Given the description of an element on the screen output the (x, y) to click on. 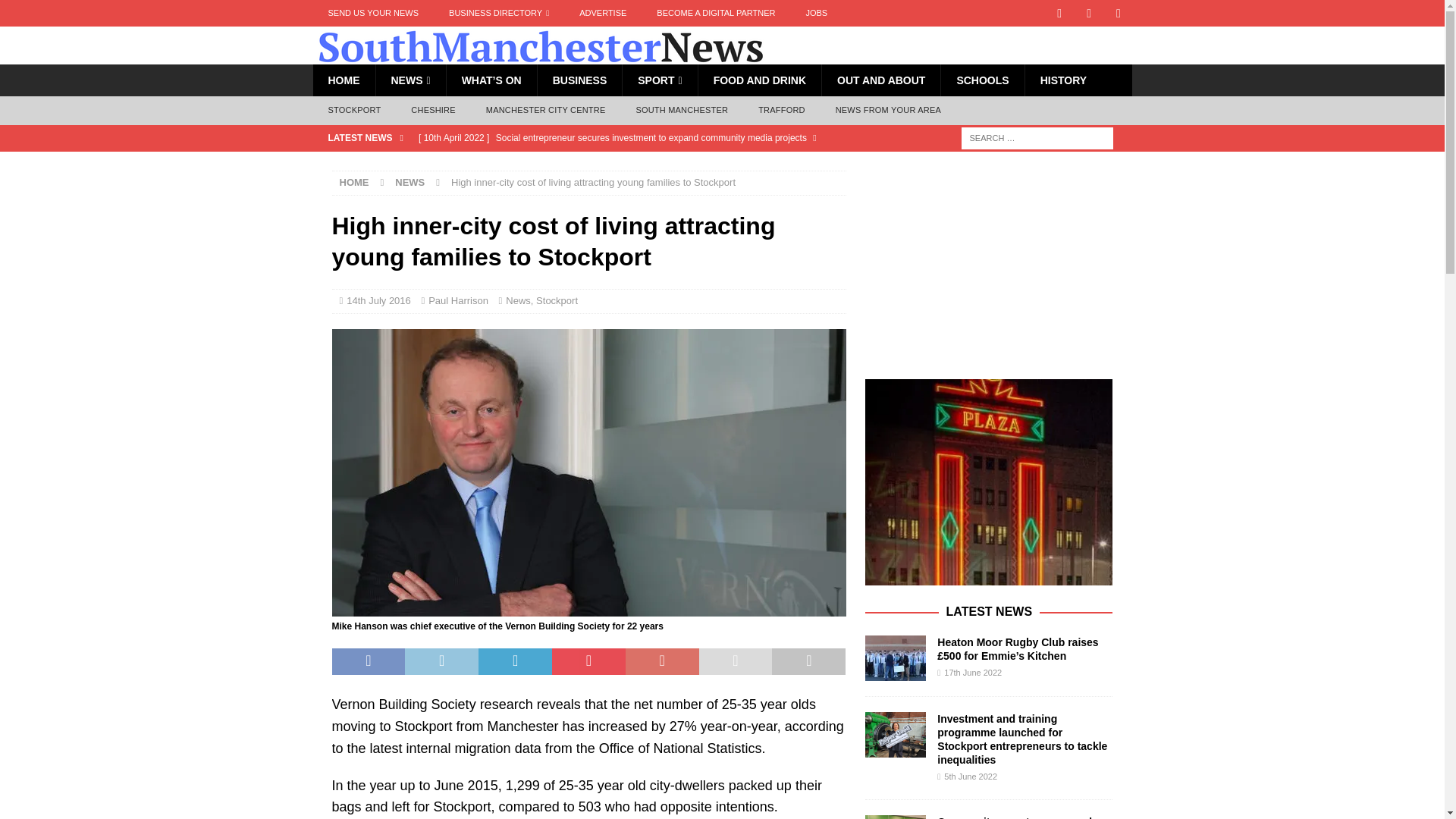
South Manchester News (540, 55)
ADVERTISE (603, 13)
JOBS (816, 13)
BUSINESS DIRECTORY (498, 13)
BECOME A DIGITAL PARTNER (716, 13)
SEND US YOUR NEWS (373, 13)
HOME (343, 80)
